Given the description of an element on the screen output the (x, y) to click on. 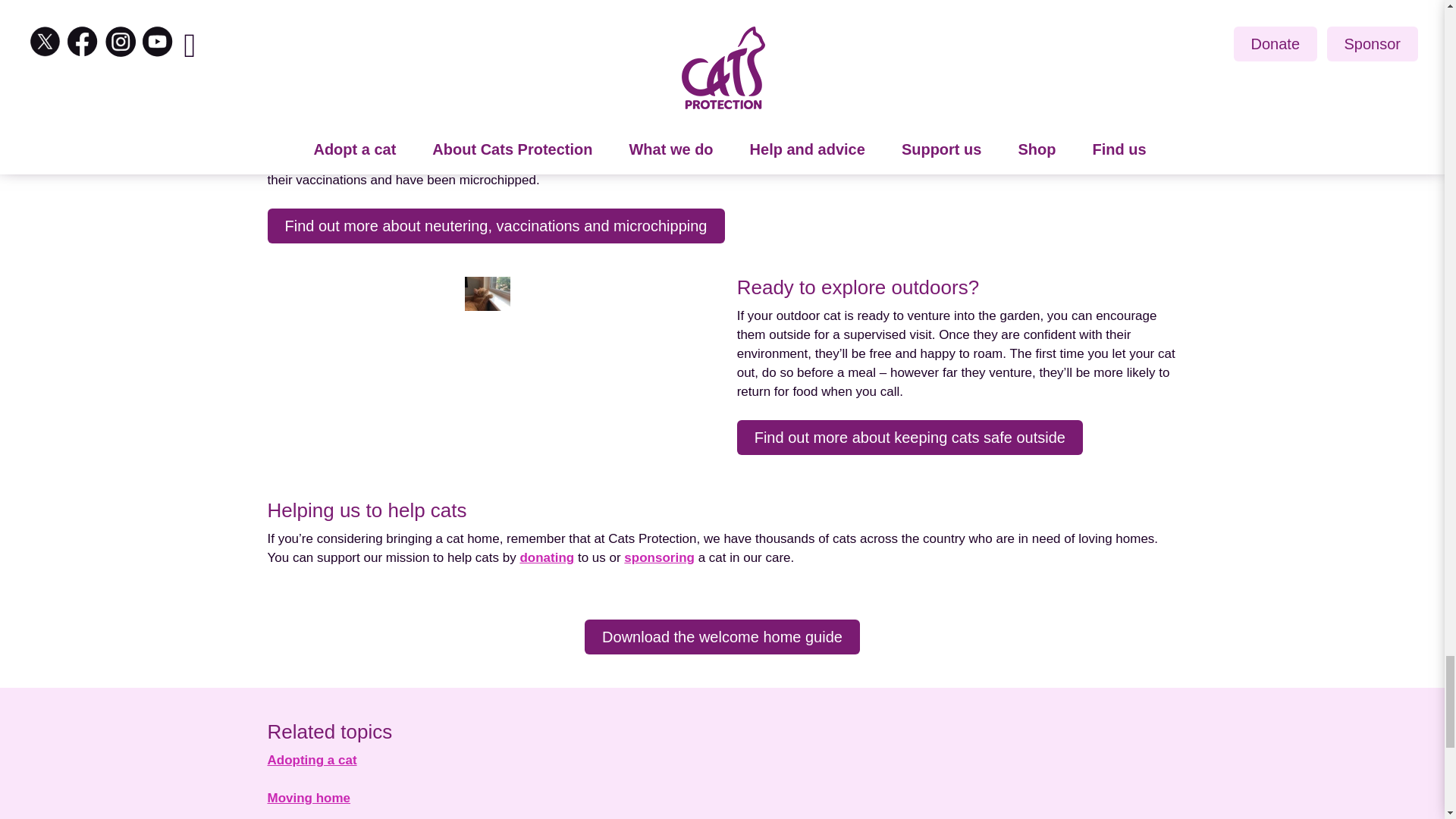
Donate (546, 559)
Adopting a cat (311, 761)
Sponsor (659, 559)
Moving home (308, 800)
